Given the description of an element on the screen output the (x, y) to click on. 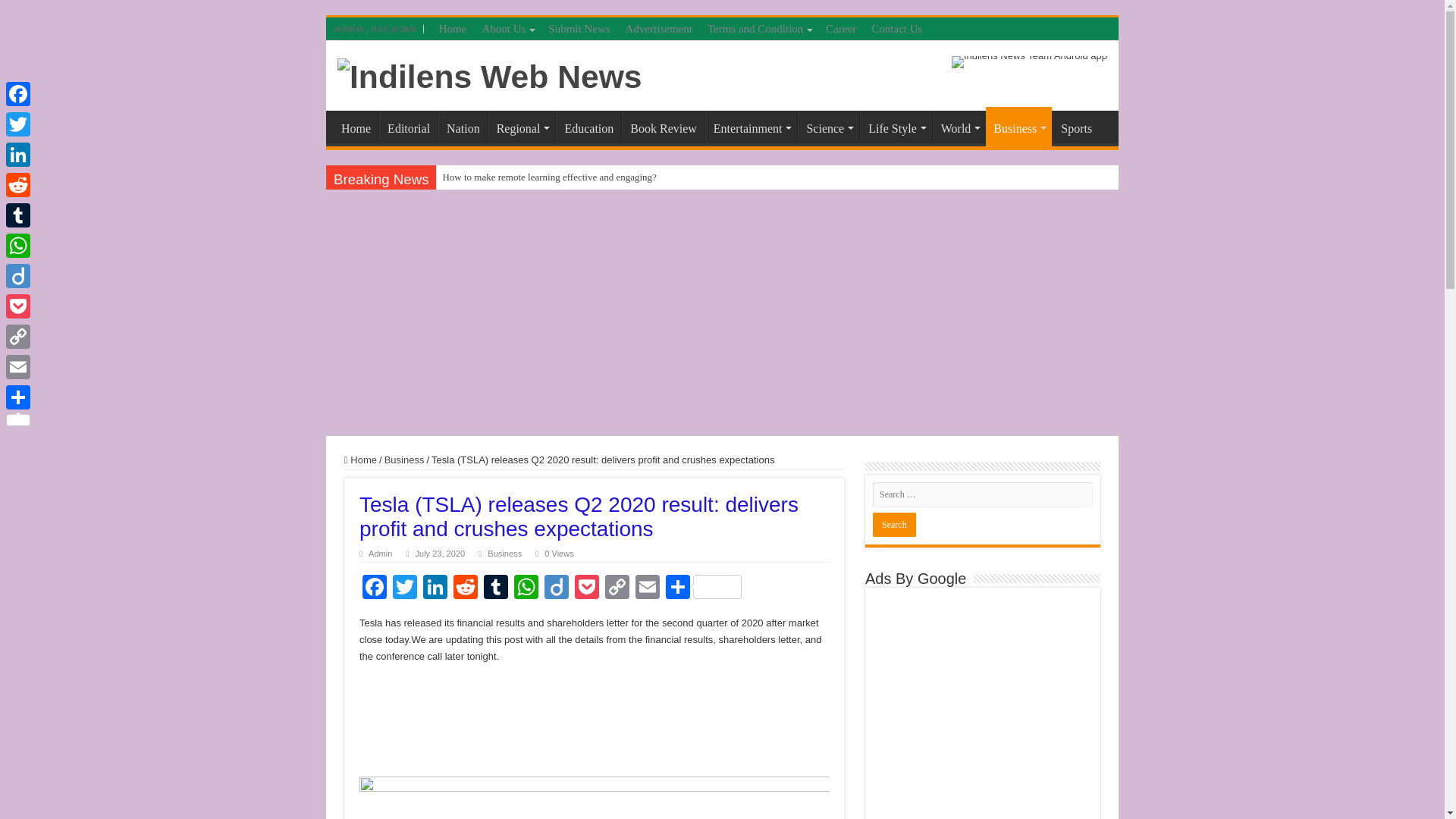
Search (893, 524)
Search (893, 524)
Home (452, 28)
Indilens News Team Android app (1029, 60)
Indilens Web News (489, 74)
